Given the description of an element on the screen output the (x, y) to click on. 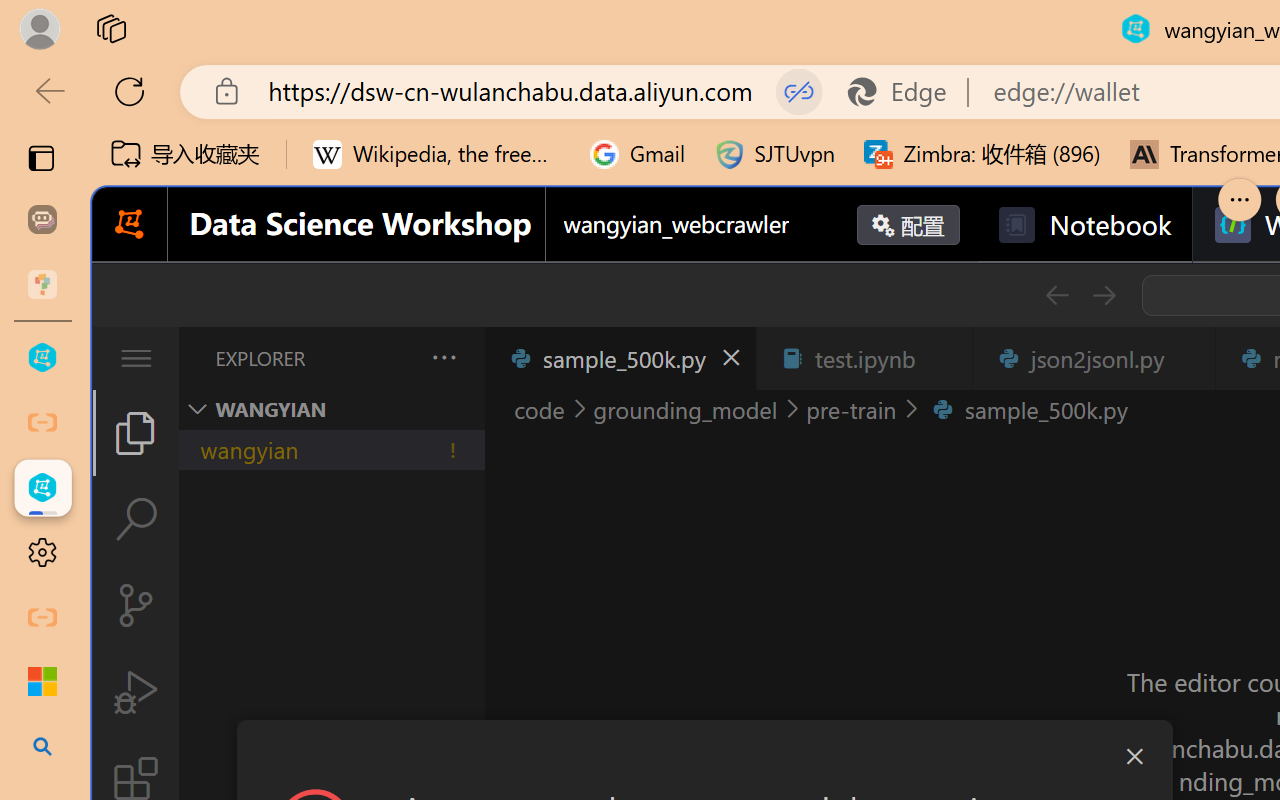
Tab actions (1188, 358)
Wikipedia, the free encyclopedia (437, 154)
Class: menubar compact overflow-menu-only (135, 358)
sample_500k.py (619, 358)
Close (Ctrl+F4) (1188, 358)
wangyian_dsw - DSW (42, 357)
Close Dialog (1133, 756)
Explorer (Ctrl+Shift+E) (135, 432)
json2jsonl.py (1092, 358)
